Given the description of an element on the screen output the (x, y) to click on. 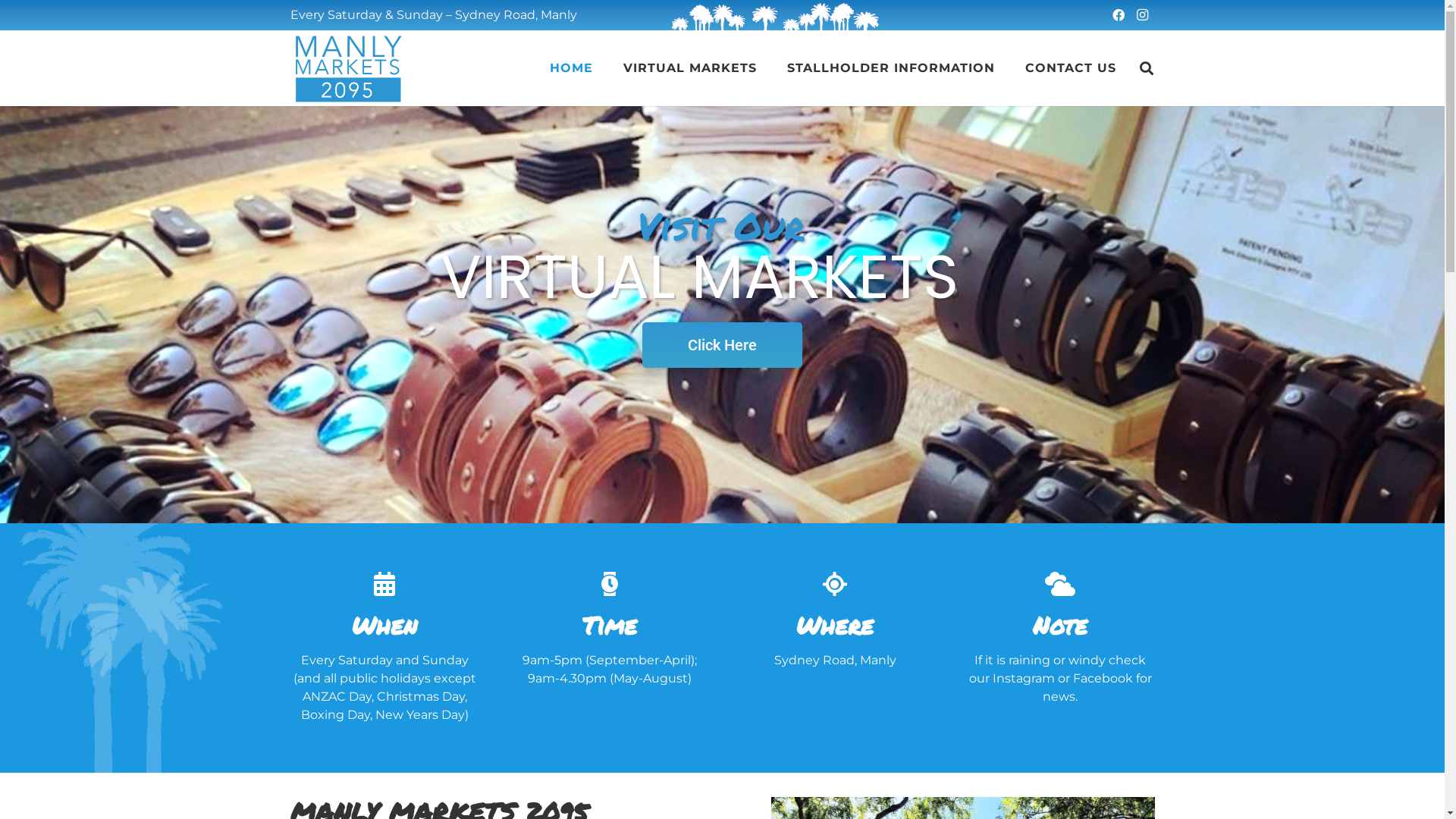
HOME Element type: text (571, 68)
CONTACT US Element type: text (1070, 68)
STALLHOLDER INFORMATION Element type: text (890, 68)
Facebook Element type: hover (1117, 15)
VIRTUAL MARKETS Element type: text (689, 68)
Instagram Element type: hover (1141, 15)
